Given the description of an element on the screen output the (x, y) to click on. 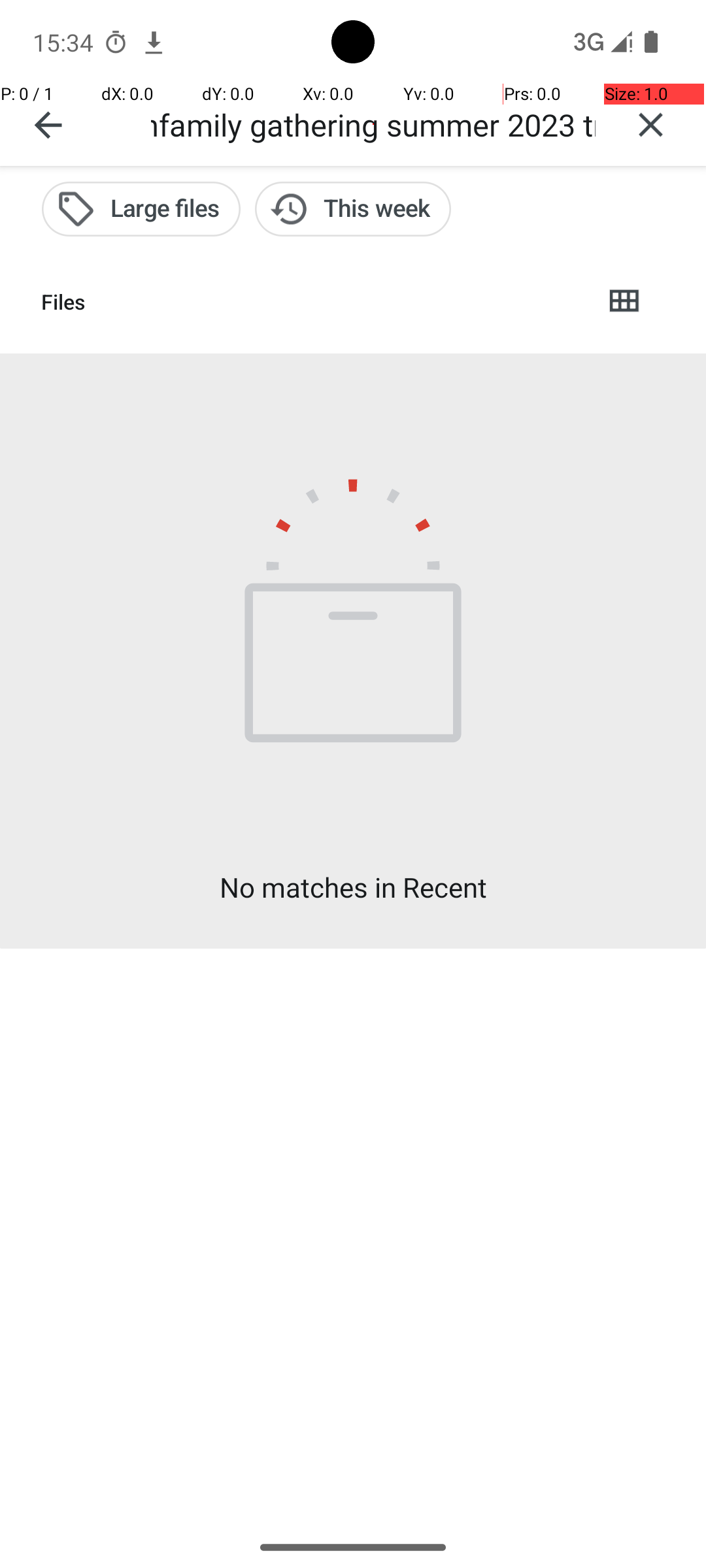
vacation photosbeachfamily gathering summer 2023 trip memories 2023 Element type: android.widget.AutoCompleteTextView (373, 124)
